Given the description of an element on the screen output the (x, y) to click on. 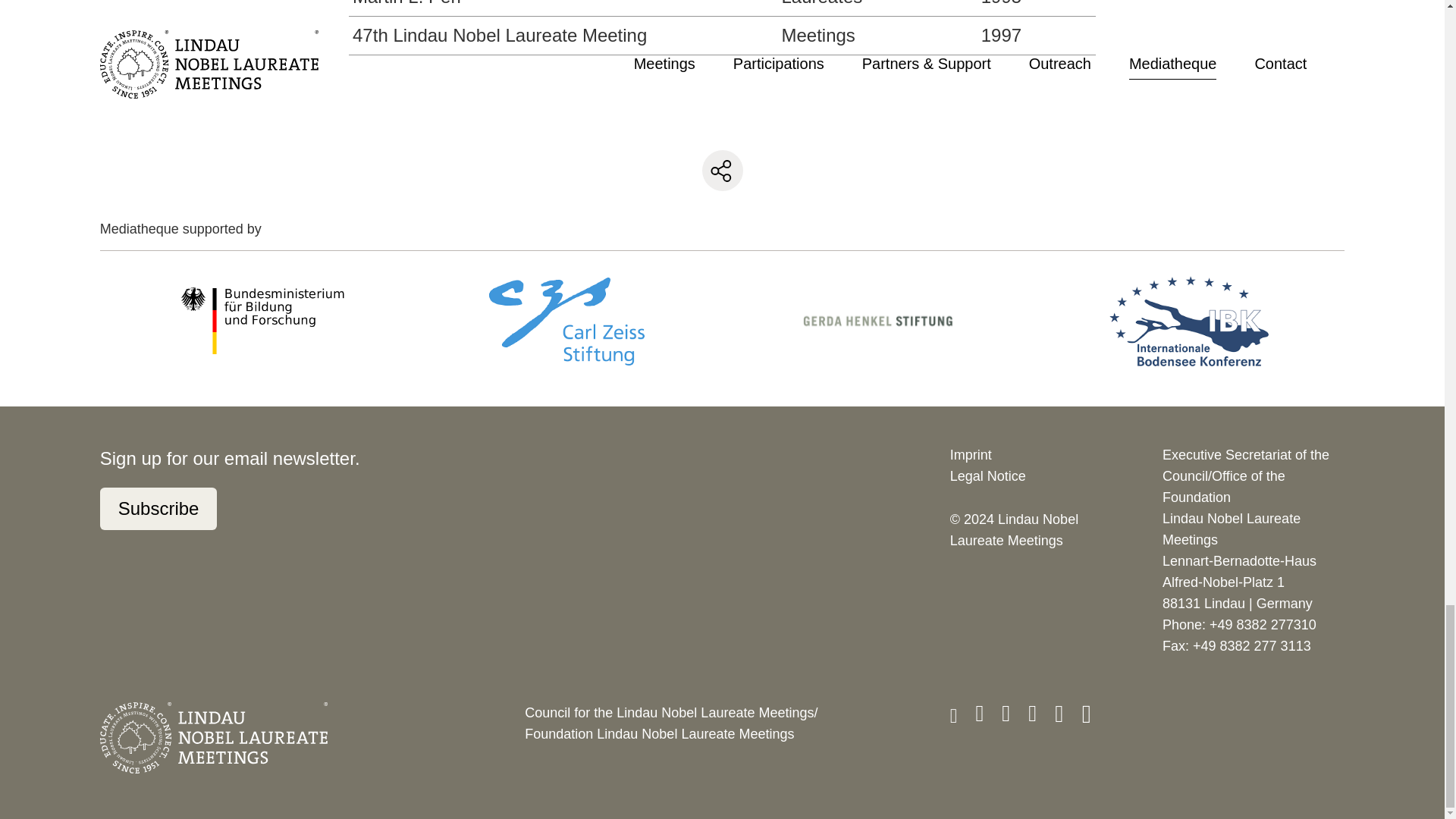
Internationale Bodensee Konferenz (1188, 321)
Gerda Henkel Stiftung (877, 320)
Carl Zeiss Stiftung (566, 321)
